Given the description of an element on the screen output the (x, y) to click on. 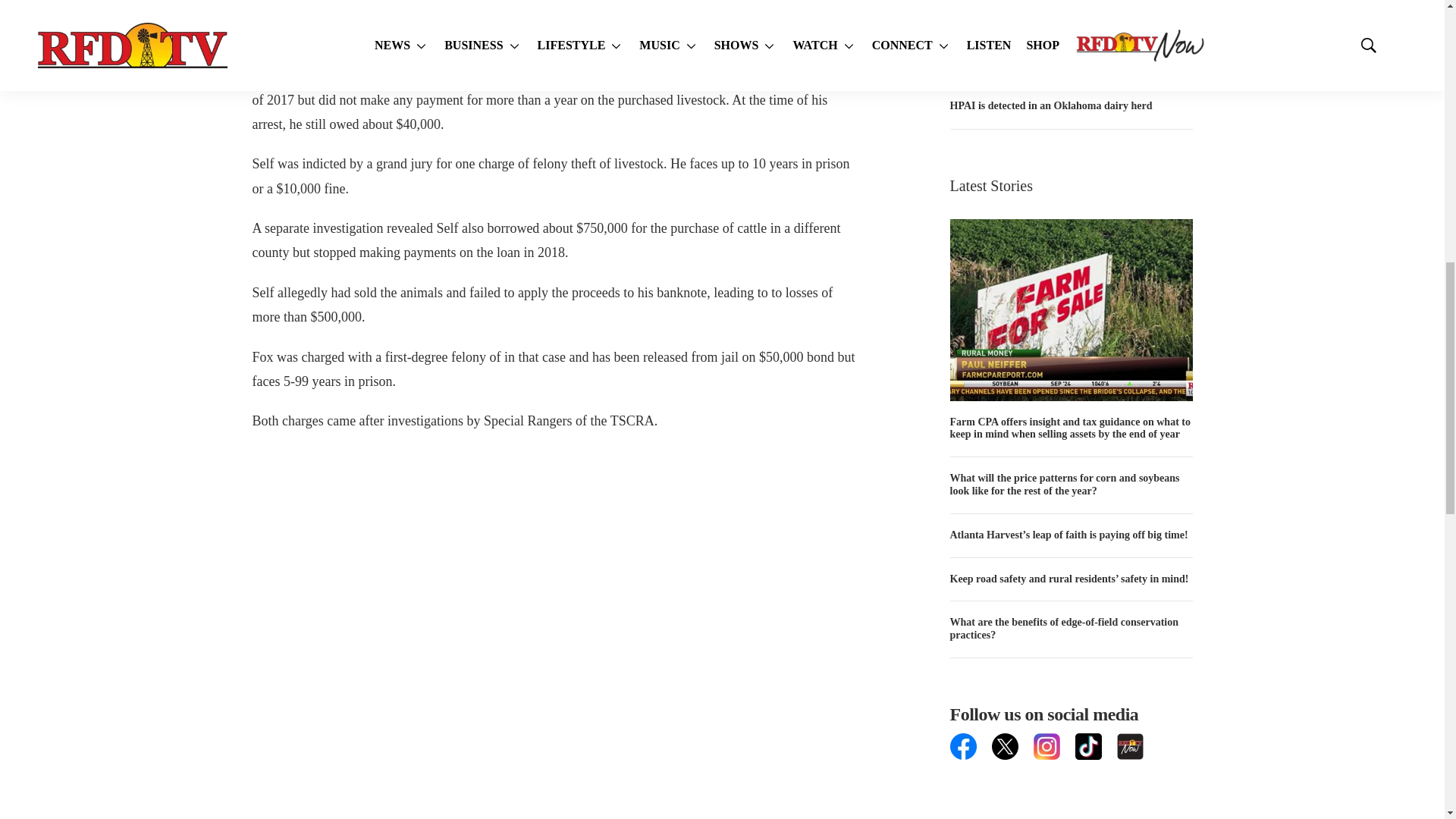
Signup Widget Embed (1070, 789)
